Given the description of an element on the screen output the (x, y) to click on. 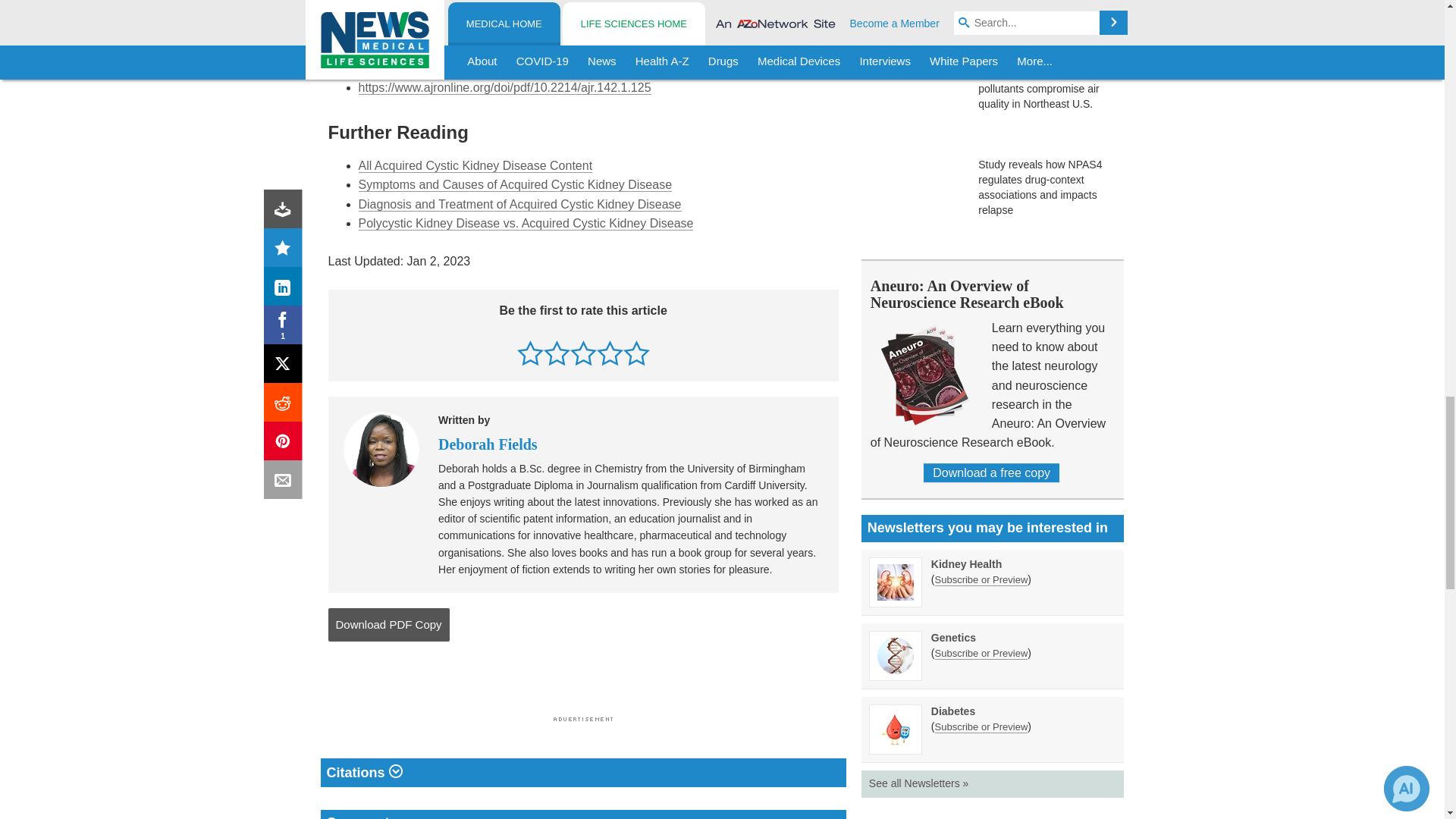
Rate this 2 stars out of 5 (556, 352)
Rate this 3 stars out of 5 (583, 352)
Rate this 5 stars out of 5 (636, 352)
Rate this 4 stars out of 5 (609, 352)
